Given the description of an element on the screen output the (x, y) to click on. 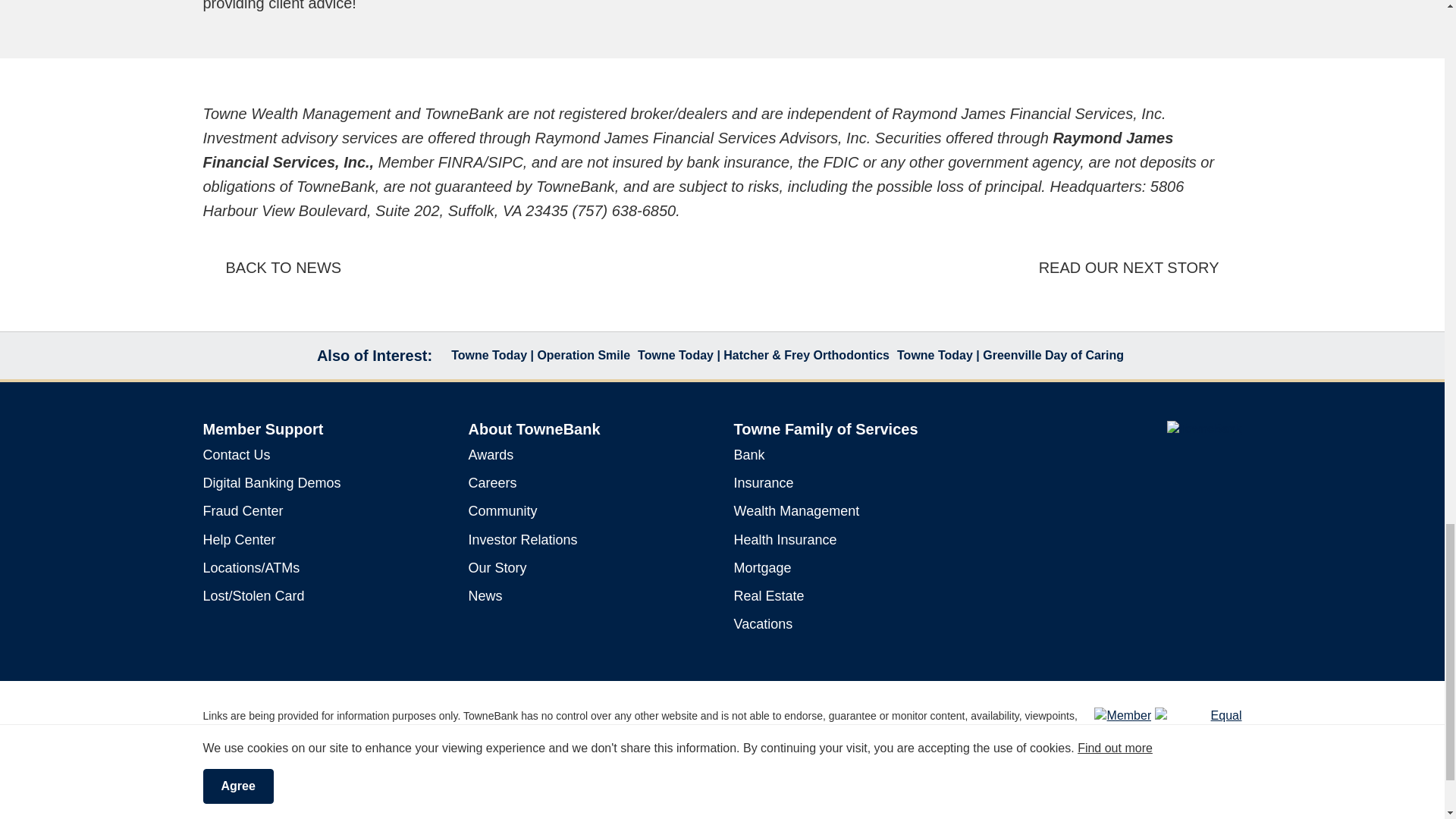
Awards (490, 454)
Help Center (239, 539)
Digital Banking Demos (271, 482)
READ OUR NEXT STORY (1140, 267)
Contact Us (236, 454)
Fraud Center (243, 510)
BACK TO NEWS (272, 267)
Careers (492, 482)
